Given the description of an element on the screen output the (x, y) to click on. 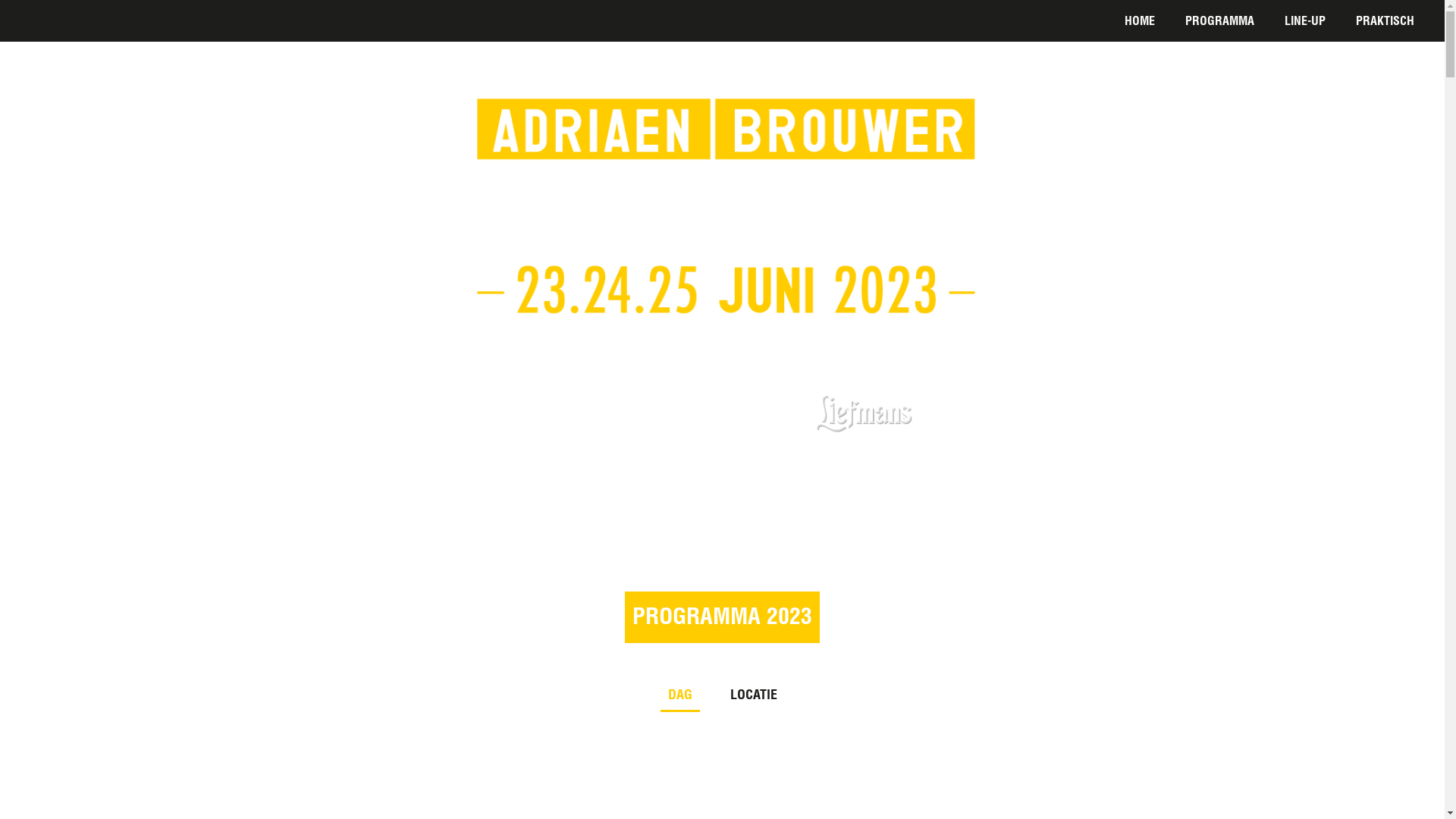
DAG Element type: text (679, 699)
LOCATIE Element type: text (752, 699)
HOME Element type: text (1139, 23)
PRAKTISCH Element type: text (1384, 23)
PROGRAMMA Element type: text (1219, 23)
LINE-UP Element type: text (1304, 23)
